Given the description of an element on the screen output the (x, y) to click on. 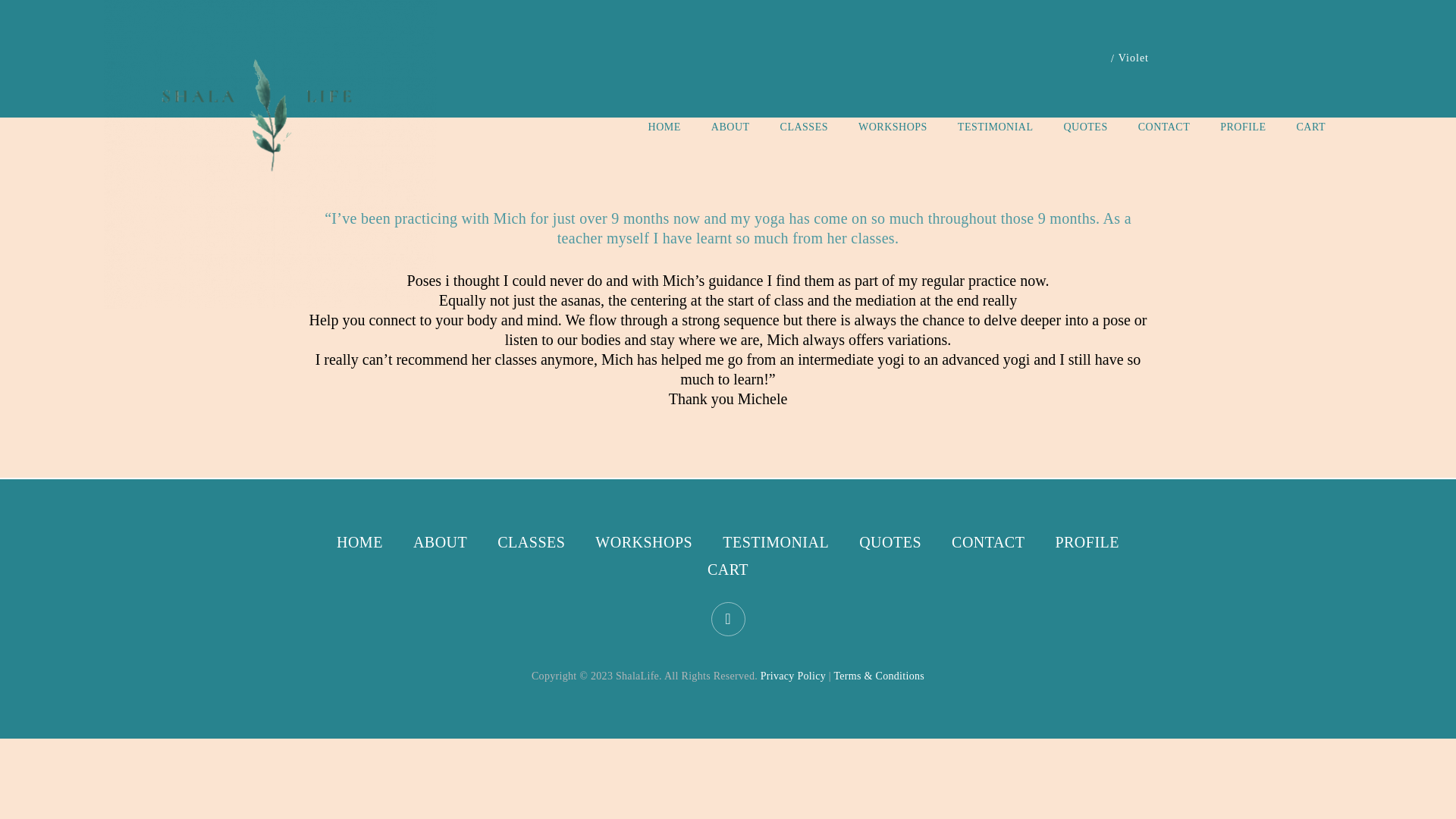
HOME (664, 127)
TESTIMONIAL (995, 127)
CLASSES (530, 542)
TESTIMONIAL (775, 542)
QUOTES (1084, 127)
PROFILE (1242, 127)
QUOTES (890, 542)
Privacy Policy (792, 675)
ABOUT (440, 542)
CLASSES (804, 127)
CART (1311, 127)
CONTACT (1164, 127)
Shalalife - Come Home to Yoga (269, 154)
WORKSHOPS (644, 542)
CART (727, 569)
